Given the description of an element on the screen output the (x, y) to click on. 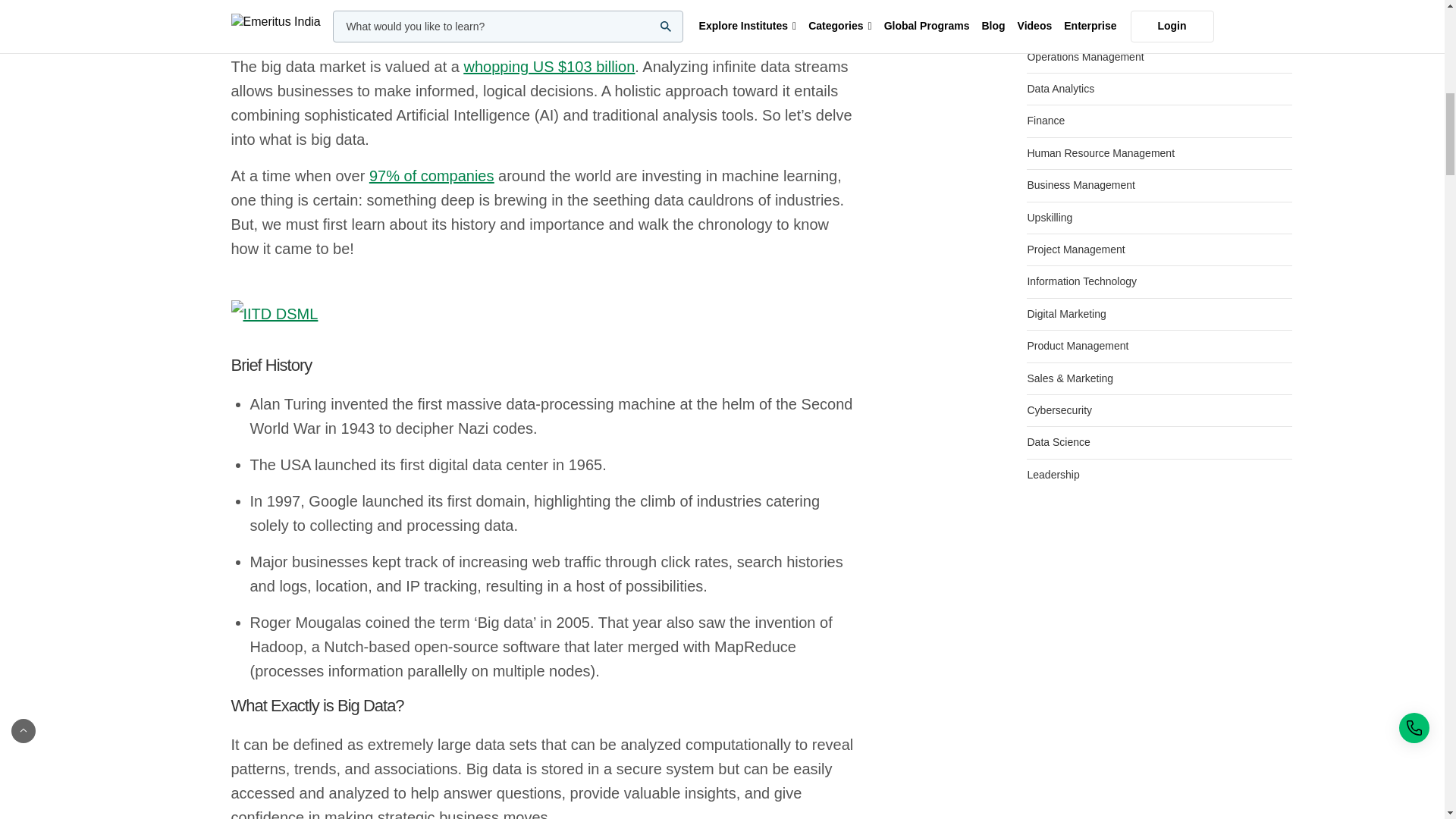
IITD DSML (543, 313)
Brief History  (543, 365)
What Exactly is Big Data? (543, 706)
